Given the description of an element on the screen output the (x, y) to click on. 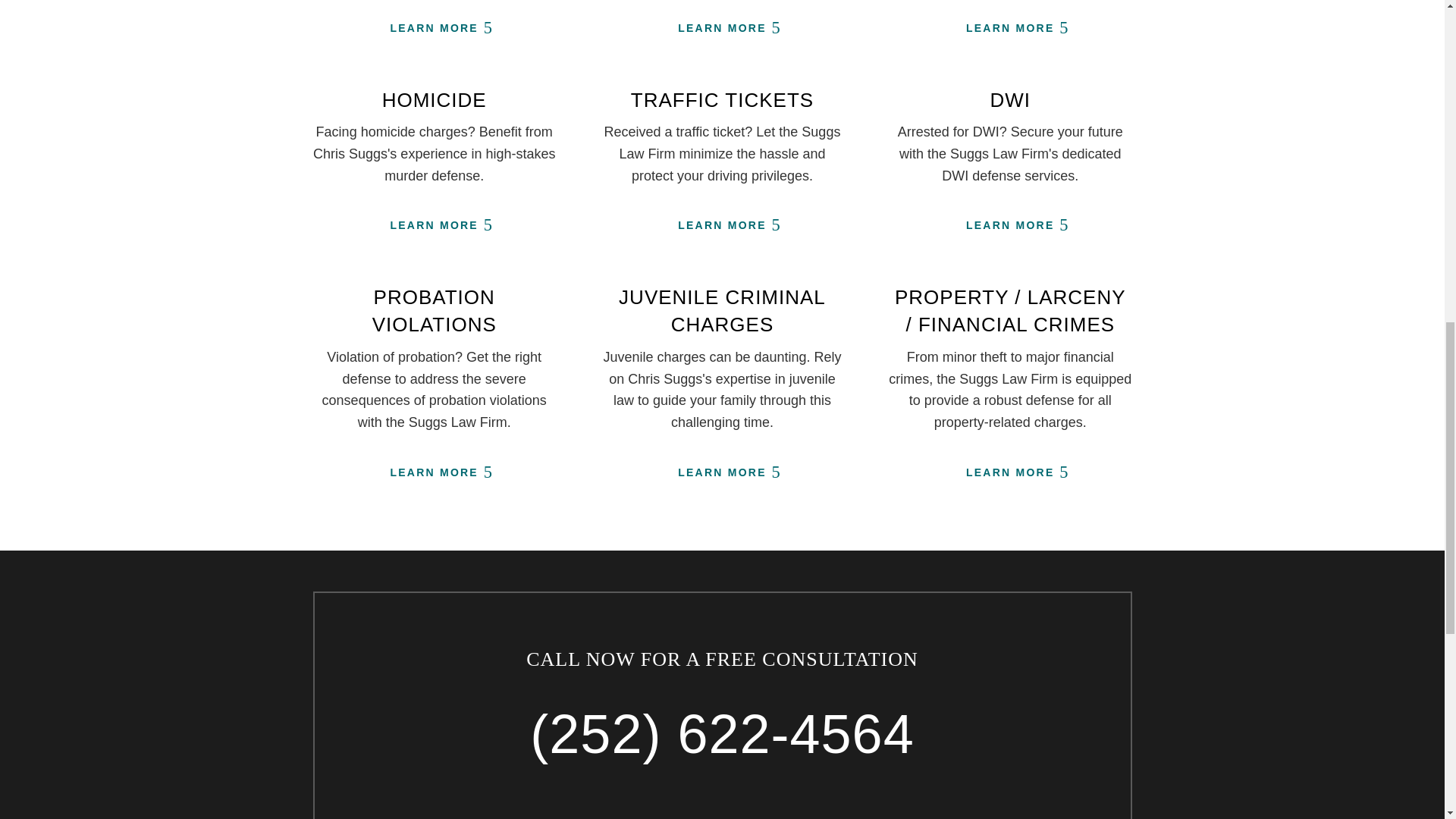
LEARN MORE (1010, 225)
LEARN MORE (1010, 472)
LEARN MORE (721, 472)
LEARN MORE (721, 28)
LEARN MORE (433, 225)
LEARN MORE (433, 28)
LEARN MORE (433, 472)
LEARN MORE (721, 225)
LEARN MORE (1010, 28)
